Given the description of an element on the screen output the (x, y) to click on. 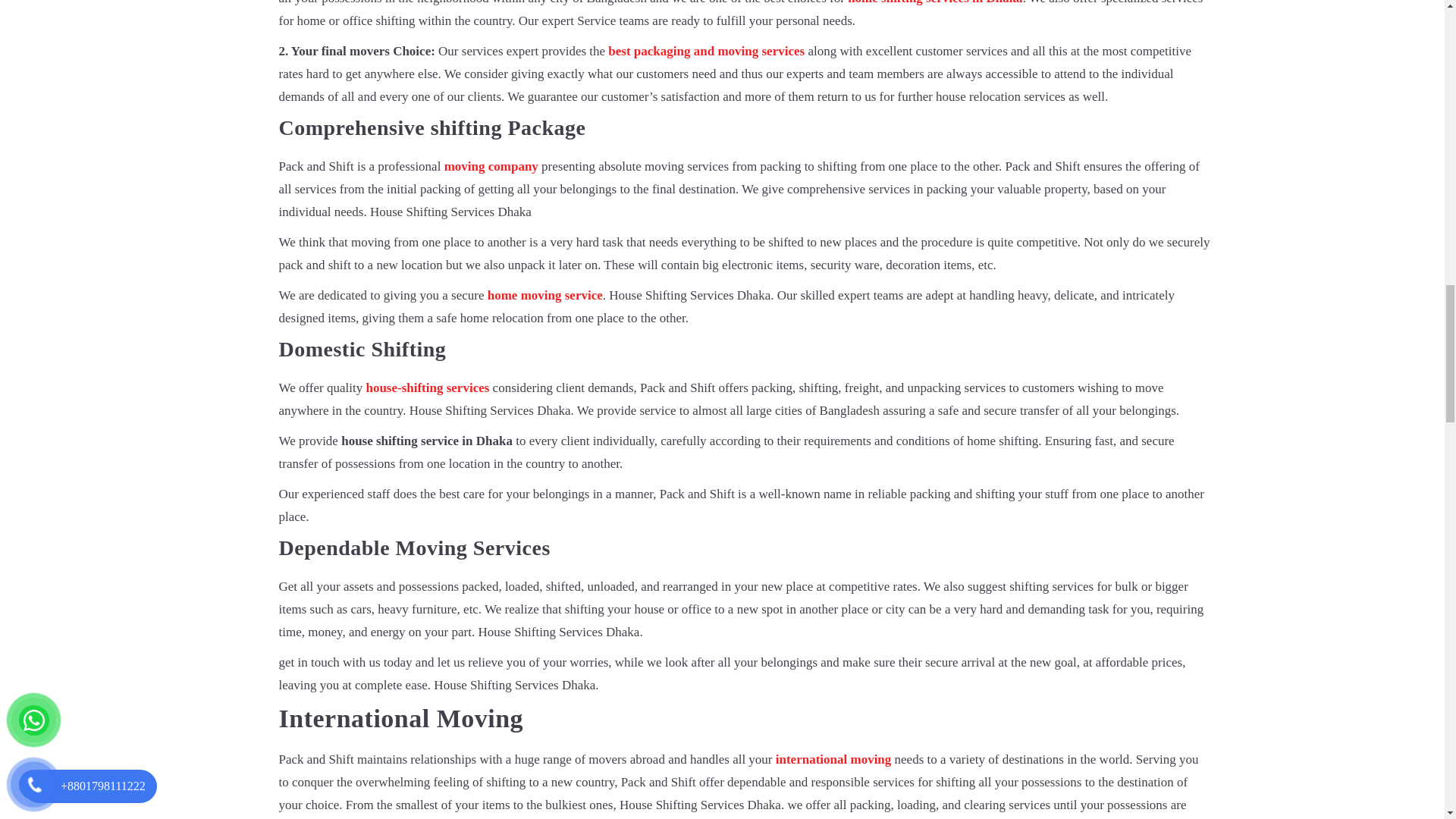
house-shifting services (427, 387)
best packaging and moving services (706, 51)
home shifting services in Dhaka (934, 2)
home moving service (544, 295)
moving company (491, 165)
